Given the description of an element on the screen output the (x, y) to click on. 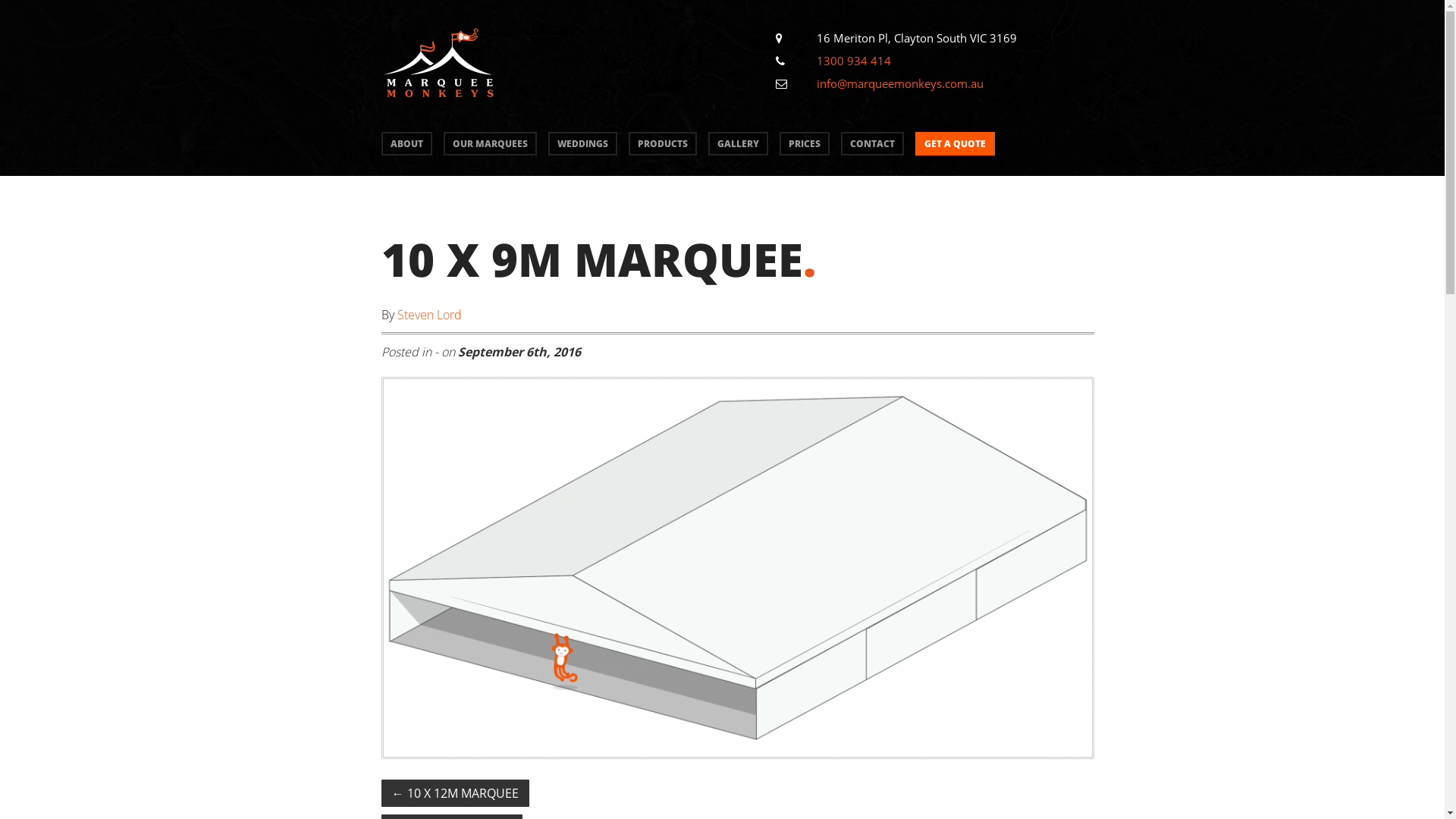
OUR MARQUEES Element type: text (489, 143)
WEDDINGS Element type: text (581, 143)
CONTACT Element type: text (871, 143)
ABOUT Element type: text (405, 143)
Steven Lord Element type: text (429, 314)
GET A QUOTE Element type: text (954, 143)
PRICES Element type: text (804, 143)
GALLERY Element type: text (738, 143)
1300 934 414 Element type: text (852, 60)
info@marqueemonkeys.com.au Element type: text (898, 83)
PRODUCTS Element type: text (661, 143)
Marquee Monkeys Element type: hover (437, 105)
